Given the description of an element on the screen output the (x, y) to click on. 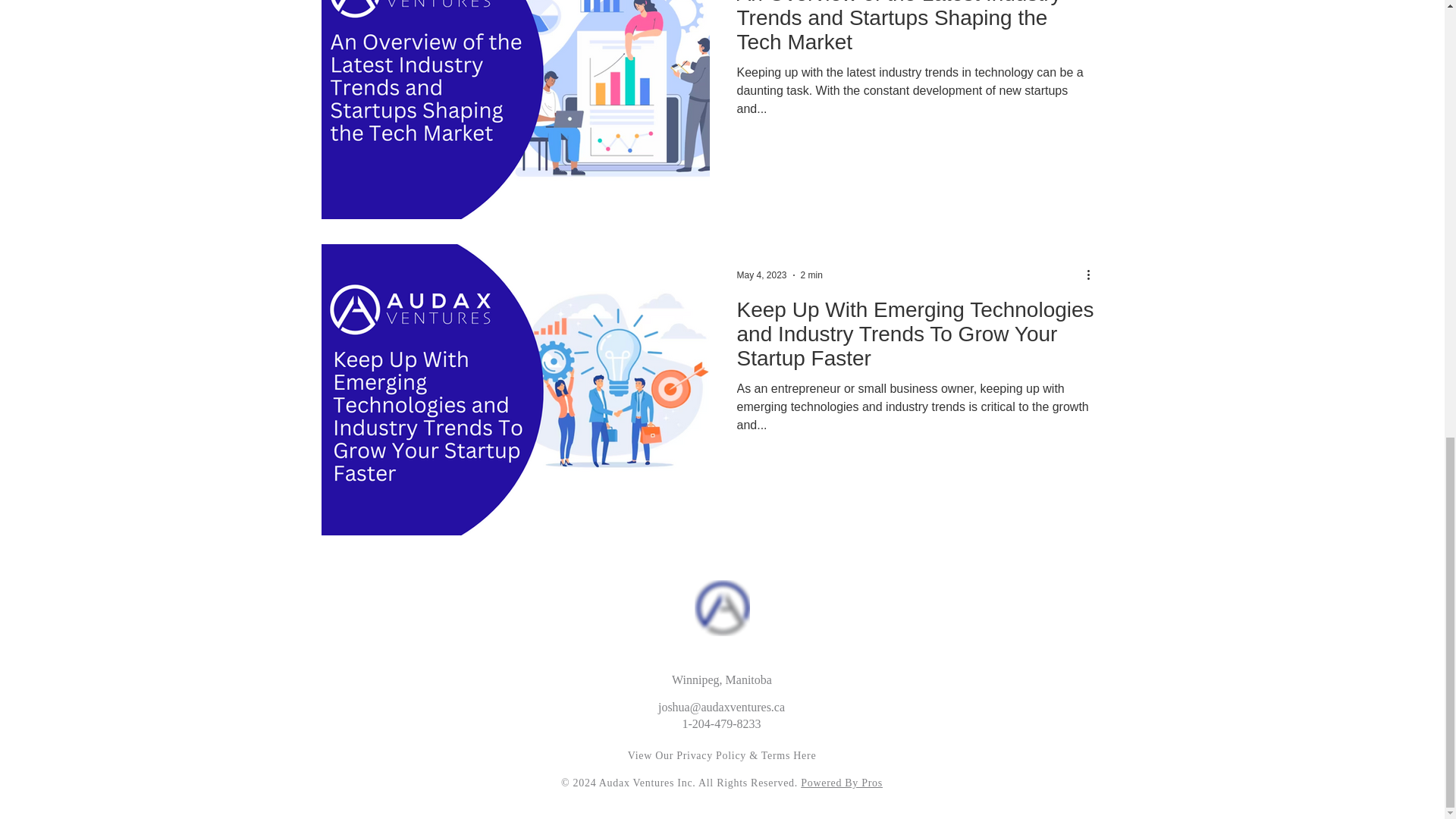
1-204-479-8233 (721, 723)
May 4, 2023 (761, 275)
2 min (811, 275)
Powered By Pros (841, 782)
